Given the description of an element on the screen output the (x, y) to click on. 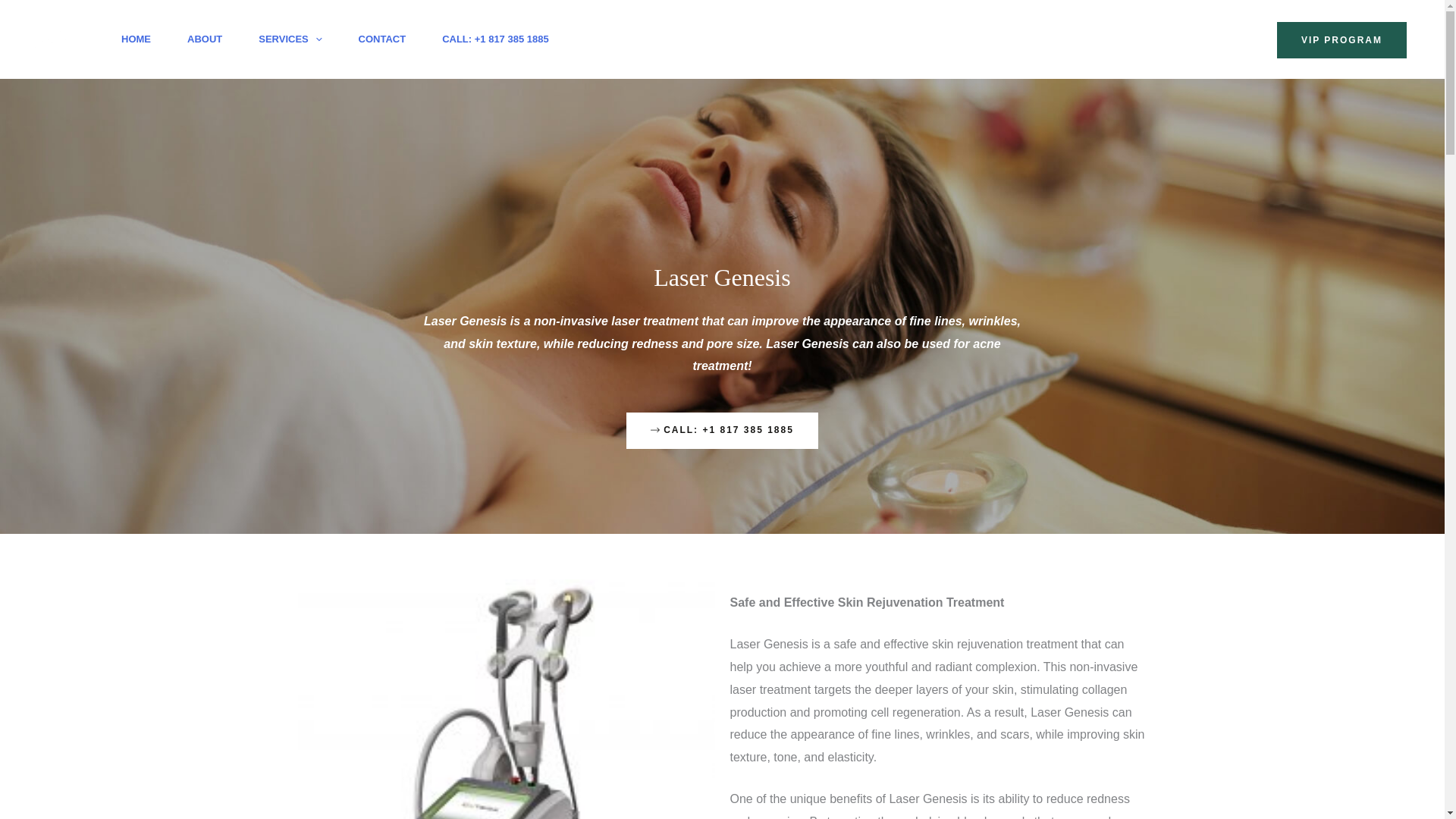
ABOUT (204, 39)
SERVICES (289, 39)
BOOK NOW (1205, 39)
CONTACT (382, 39)
VIP PROGRAM (1341, 40)
